Given the description of an element on the screen output the (x, y) to click on. 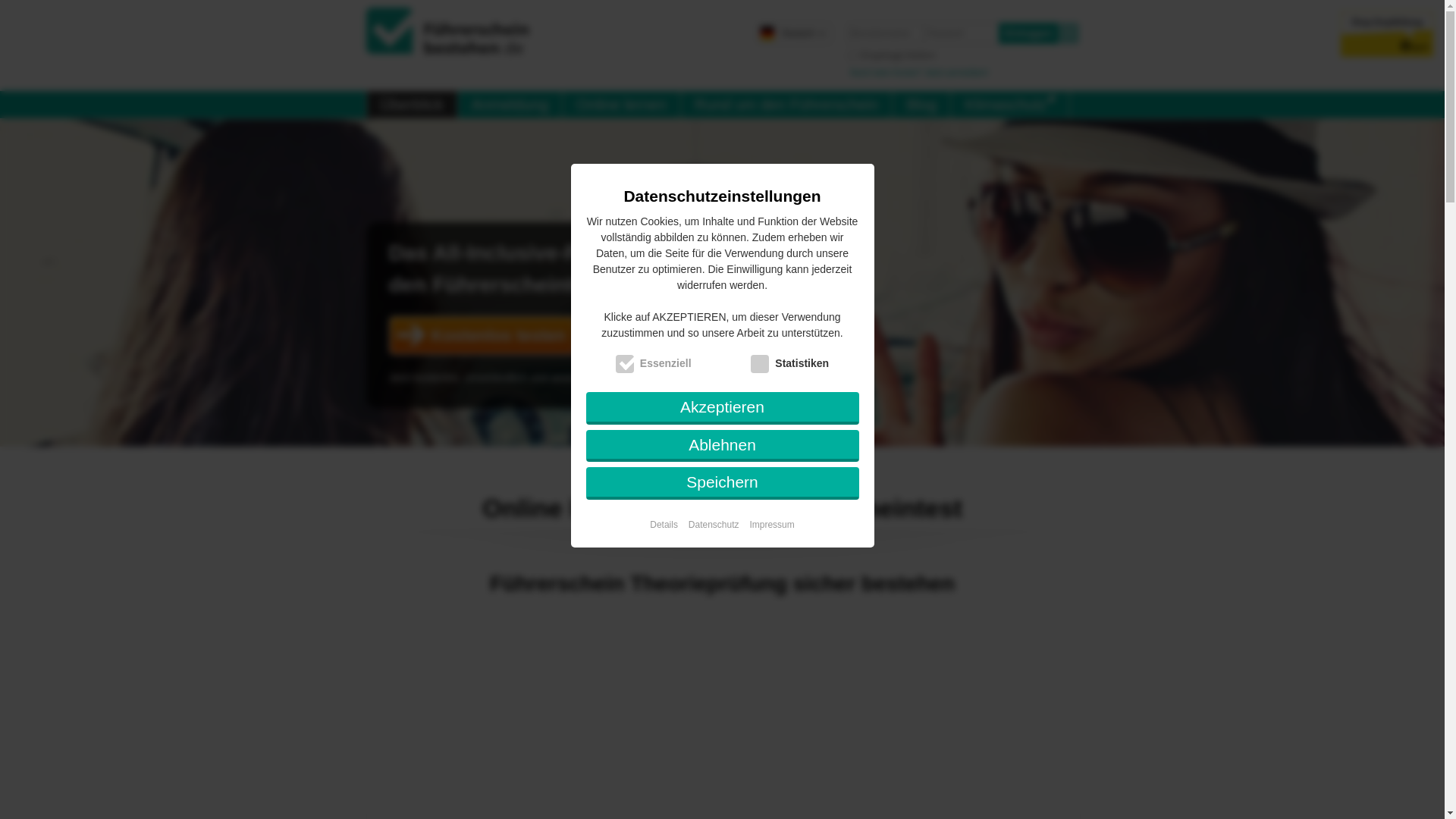
Noch kein Konto? Jetzt anmelden! (919, 72)
? (1068, 33)
on (852, 55)
Online lernen (620, 103)
Klimaschutz (1009, 103)
Deutsch (793, 33)
Anmeldung (510, 103)
Einloggen (1028, 33)
Kostenlos testen (481, 335)
Einloggen (1028, 33)
Blog (921, 103)
